Given the description of an element on the screen output the (x, y) to click on. 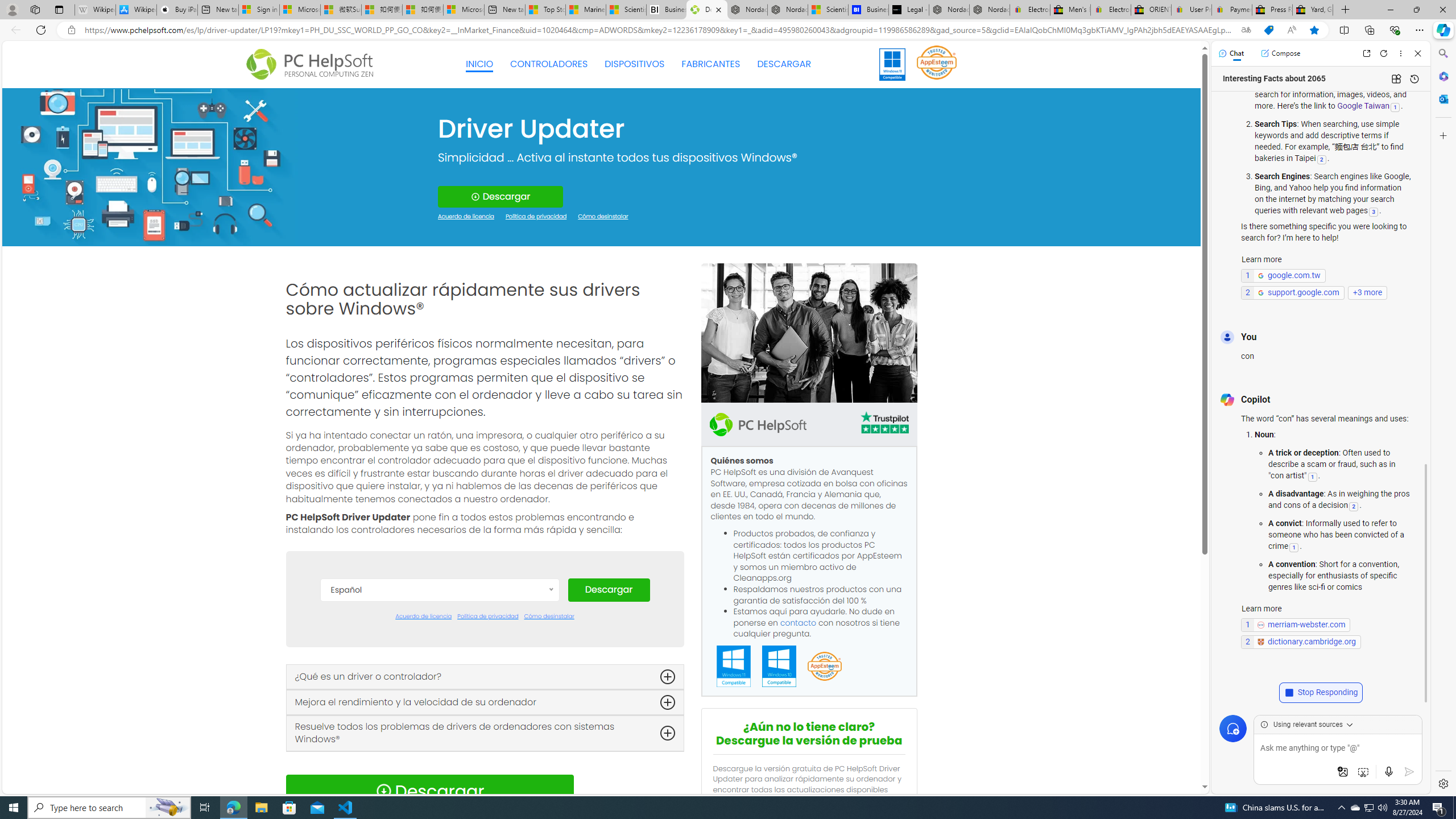
Outlook (1442, 98)
Windows 11 Compatible (733, 666)
Press Room - eBay Inc. (1272, 9)
Download Icon (383, 791)
Microsoft account | Account Checkup (463, 9)
FABRICANTES (711, 64)
Nordace - Summer Adventures 2024 (949, 9)
